Given the description of an element on the screen output the (x, y) to click on. 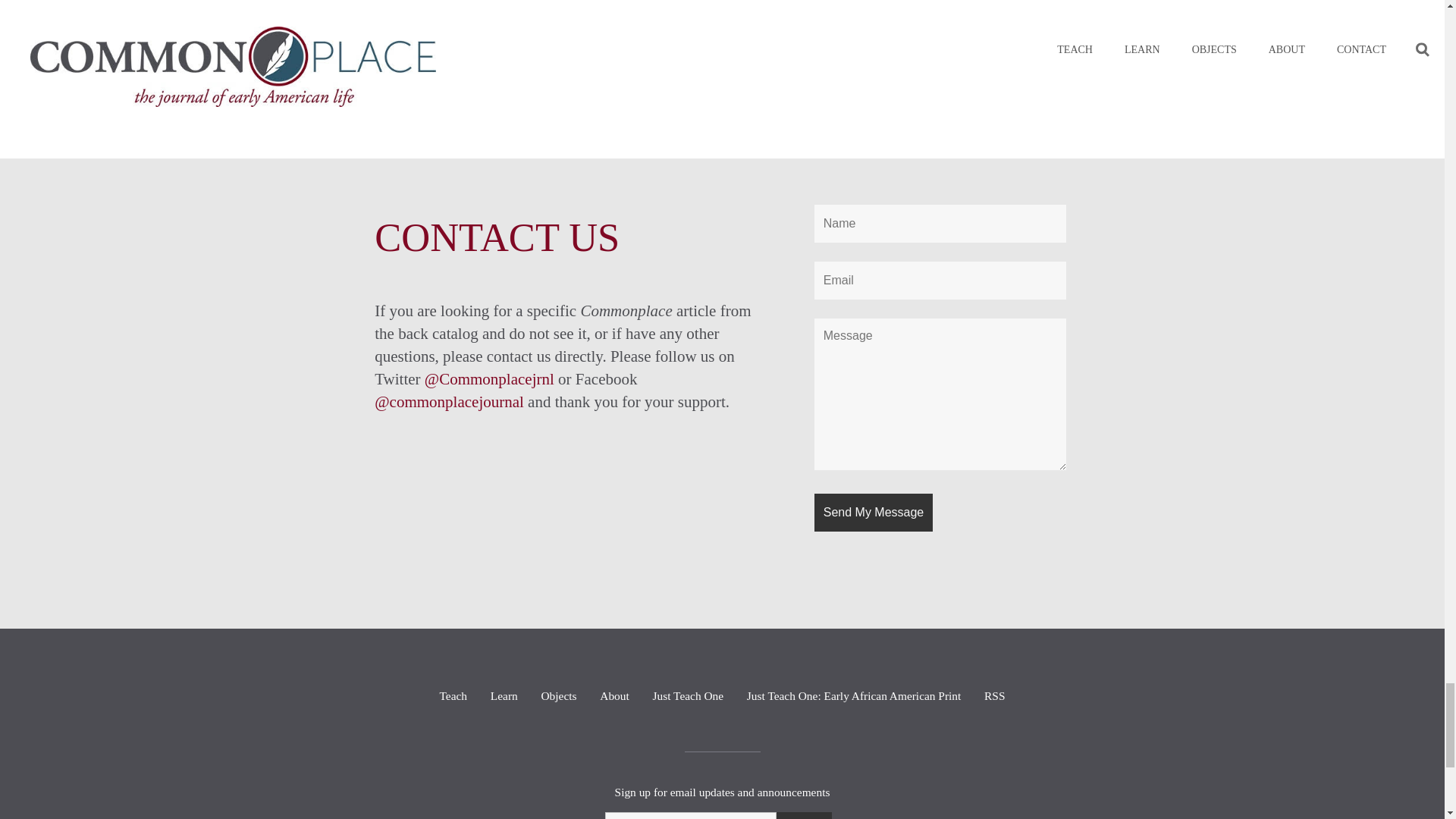
Send My Message (873, 512)
Submit (804, 815)
